Given the description of an element on the screen output the (x, y) to click on. 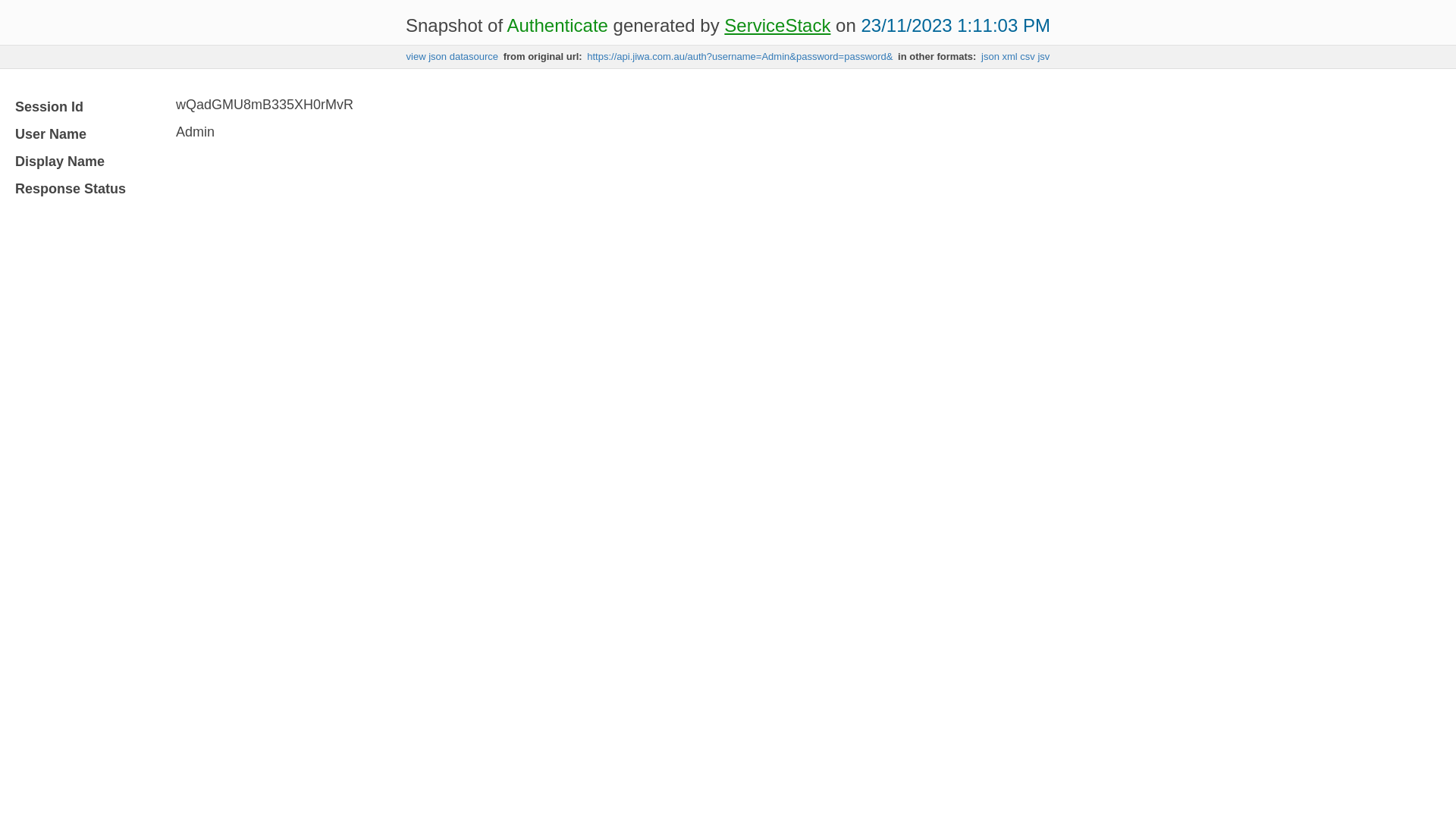
csv Element type: text (1027, 56)
ServiceStack Element type: text (777, 25)
xml Element type: text (1009, 56)
jsv Element type: text (1043, 56)
view json datasource Element type: text (452, 56)
json Element type: text (990, 56)
